Given the description of an element on the screen output the (x, y) to click on. 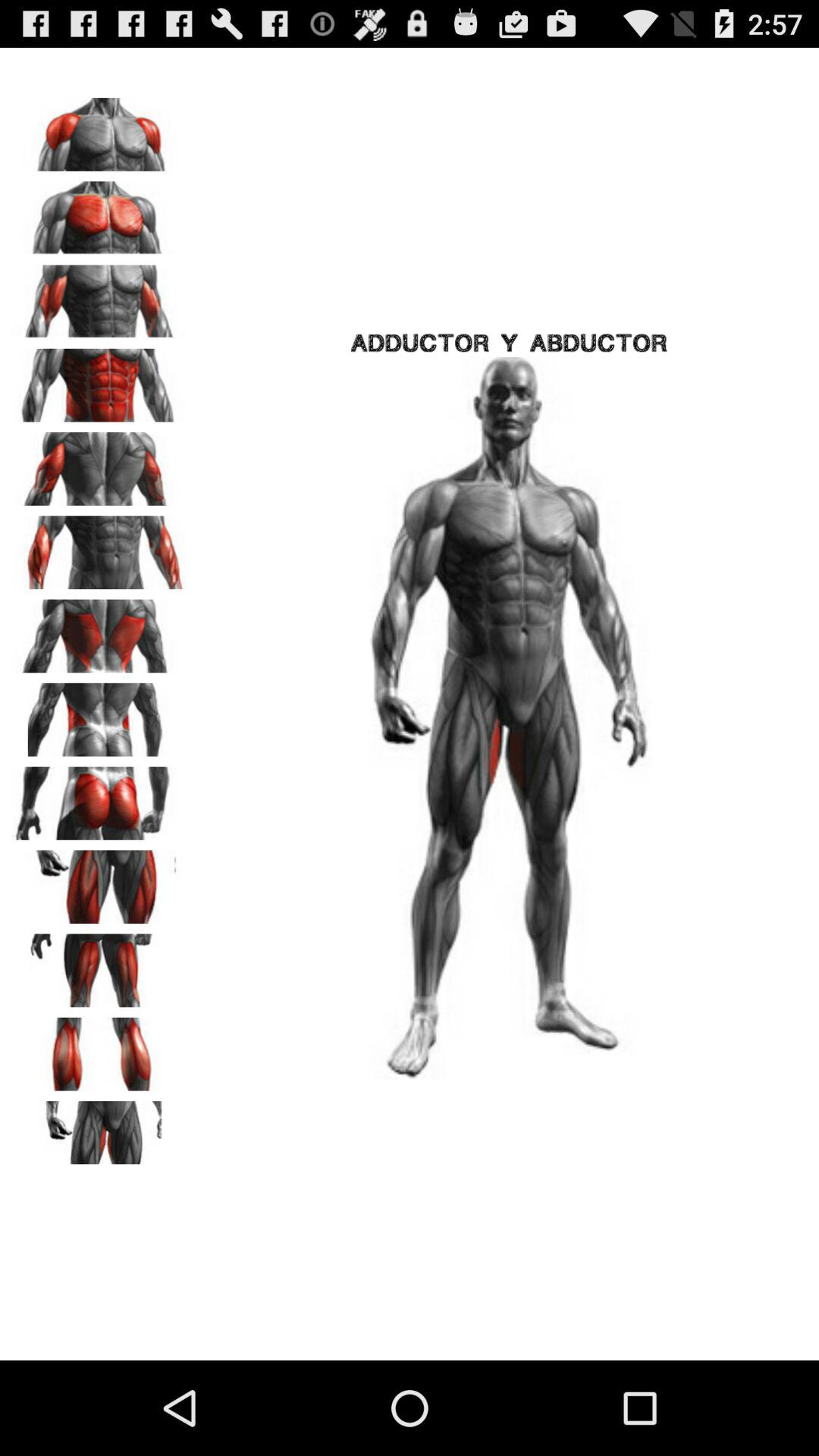
go to the selected area (99, 630)
